Given the description of an element on the screen output the (x, y) to click on. 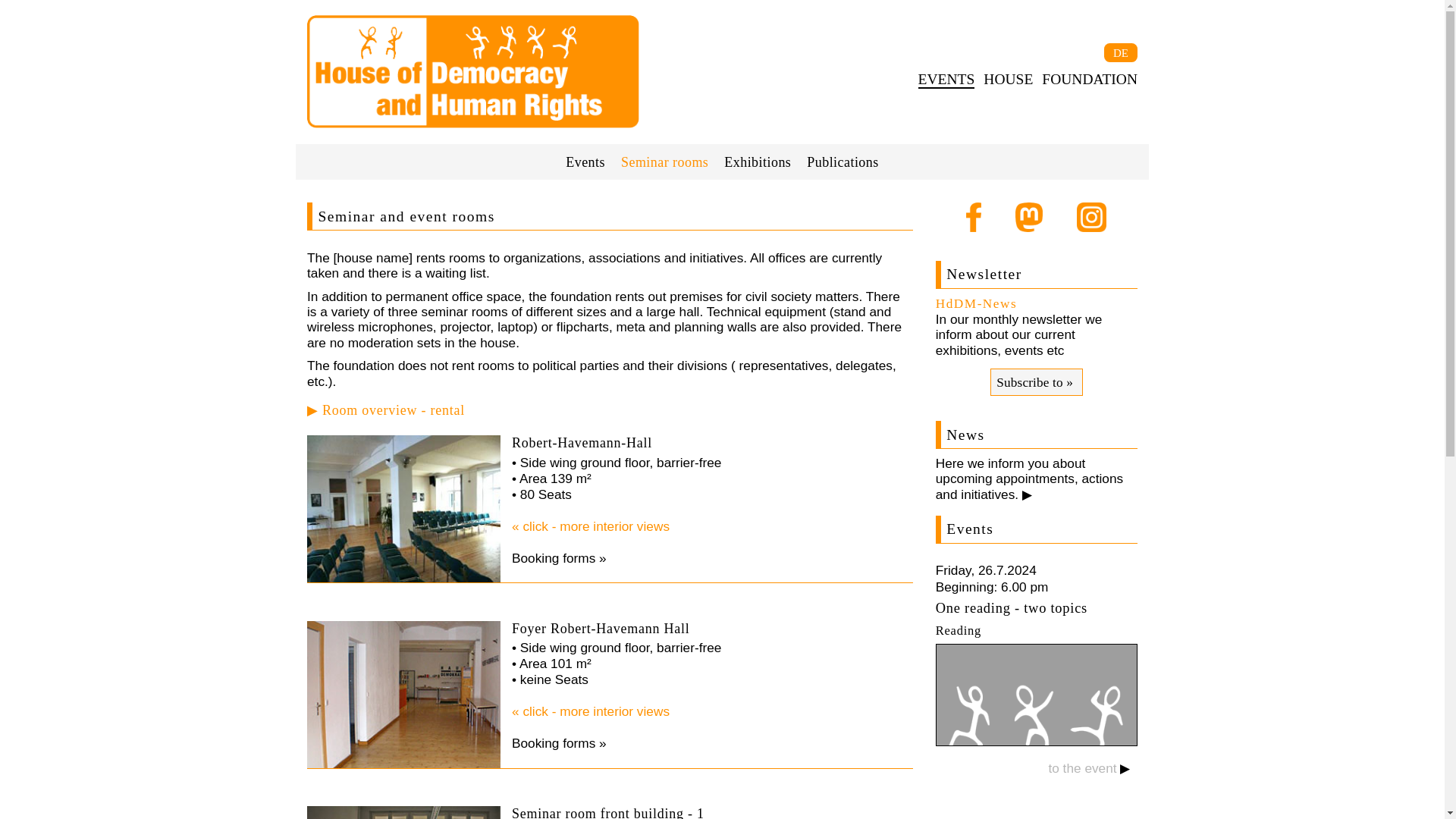
Exhibitions (757, 161)
Events (584, 161)
Seminar rooms (664, 161)
